Given the description of an element on the screen output the (x, y) to click on. 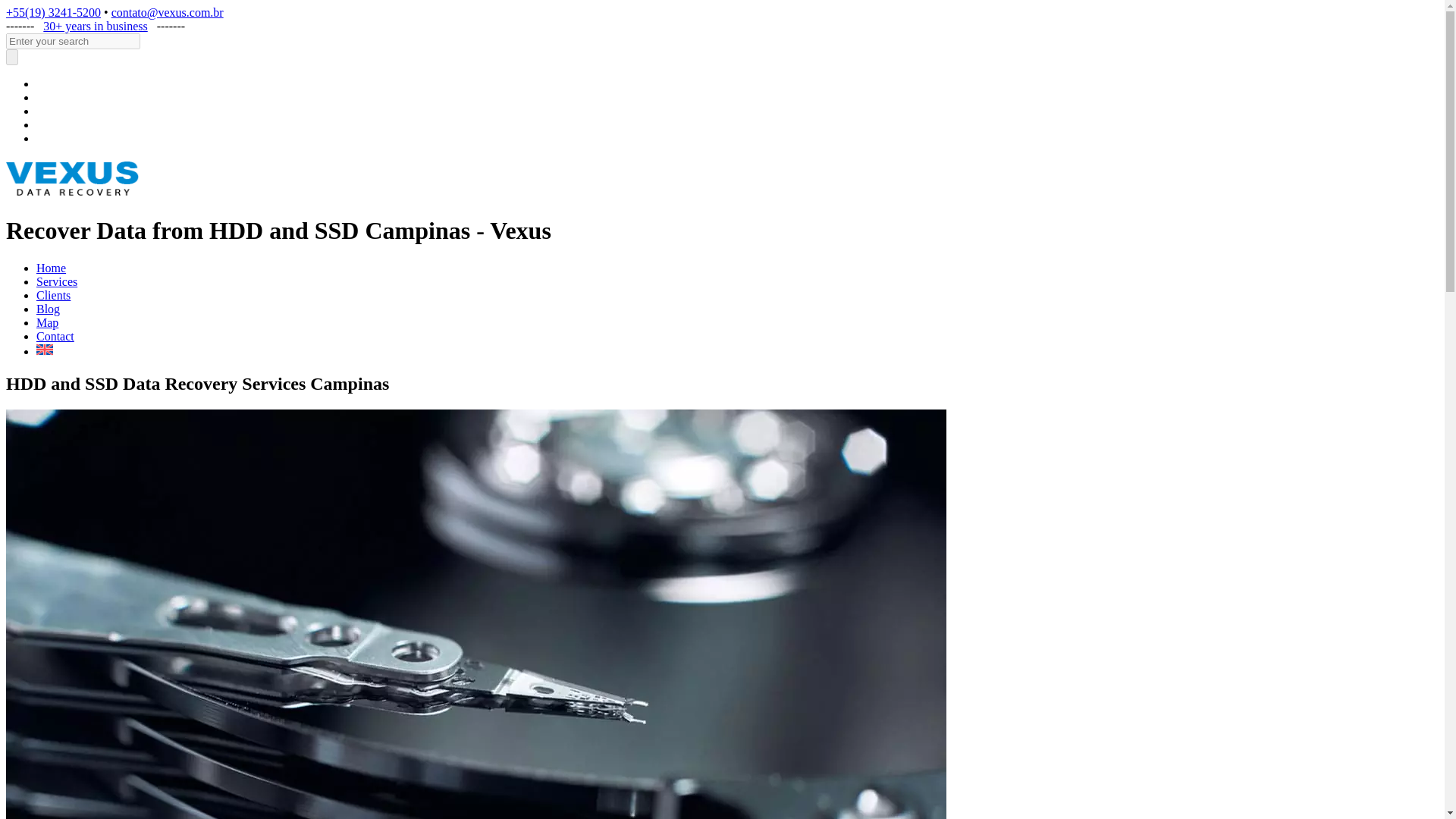
Contact (55, 336)
Vexus telefone (52, 11)
Home (50, 267)
HDD and SSD Data Recovery (50, 267)
Blog (47, 308)
Data Recovery Services (56, 281)
Services (56, 281)
Clients (52, 295)
HDD and SSD Data Recovery (73, 193)
Map (47, 322)
Vexus celebrates 30 years (95, 25)
